Given the description of an element on the screen output the (x, y) to click on. 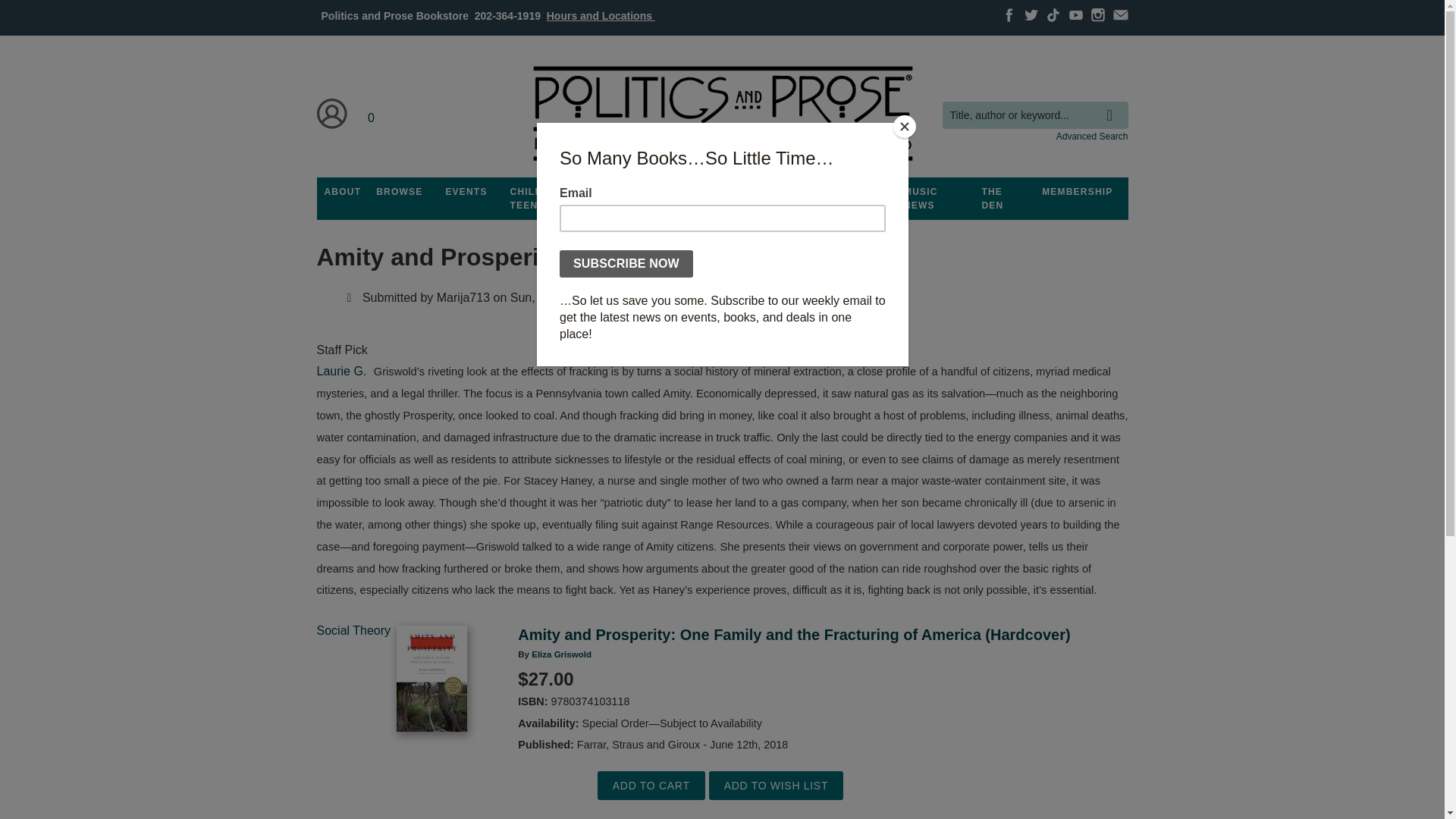
Home (721, 114)
Hours and Locations  (601, 15)
search (1112, 103)
search (1112, 103)
Advanced Search (1092, 136)
Children and Teens Department (548, 198)
See information about our programs (633, 191)
BROWSE (398, 191)
See our event calendar (465, 191)
Add to Cart (650, 785)
